Given the description of an element on the screen output the (x, y) to click on. 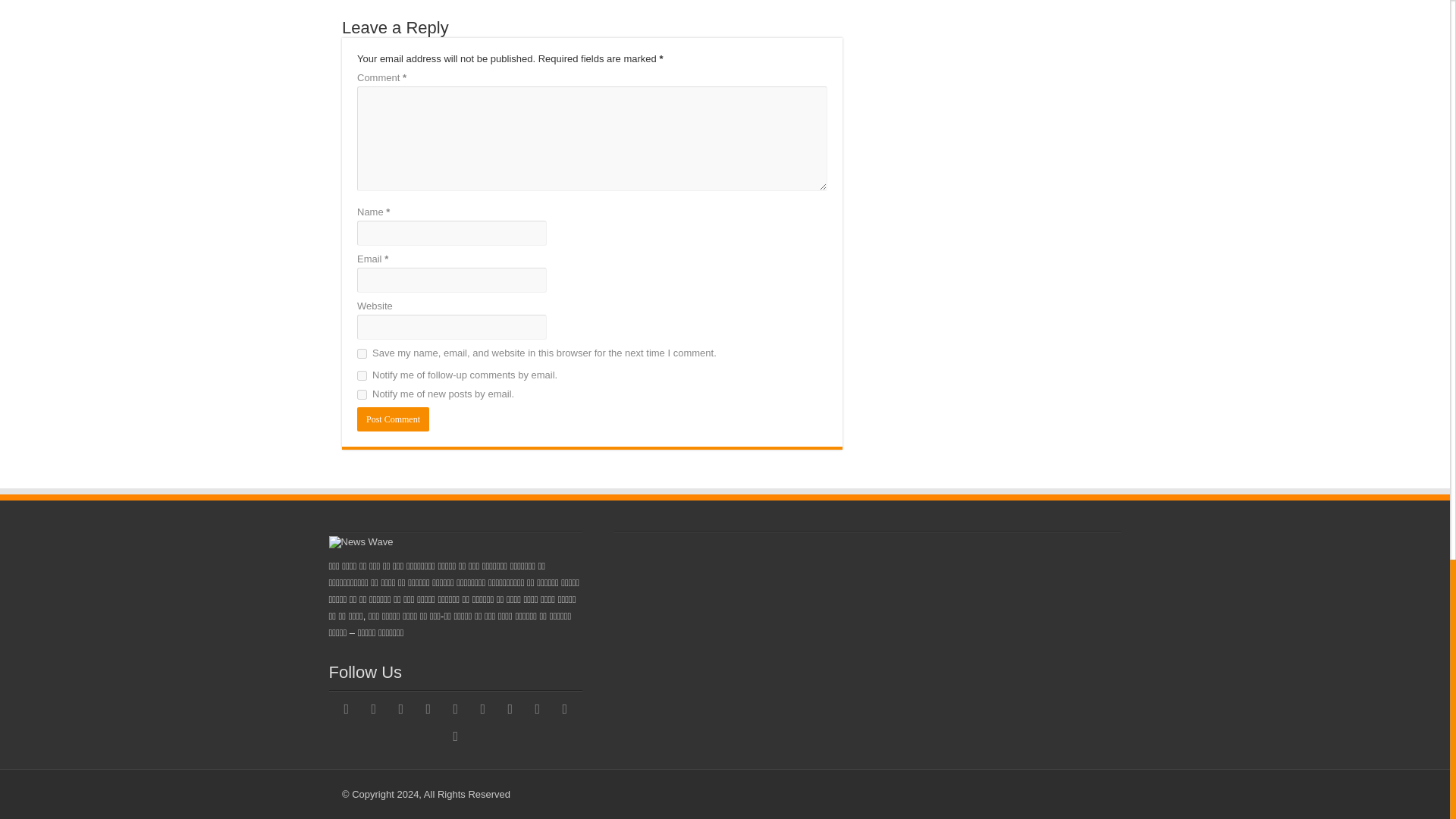
yes (361, 353)
Post Comment (392, 419)
subscribe (361, 375)
subscribe (361, 394)
